Given the description of an element on the screen output the (x, y) to click on. 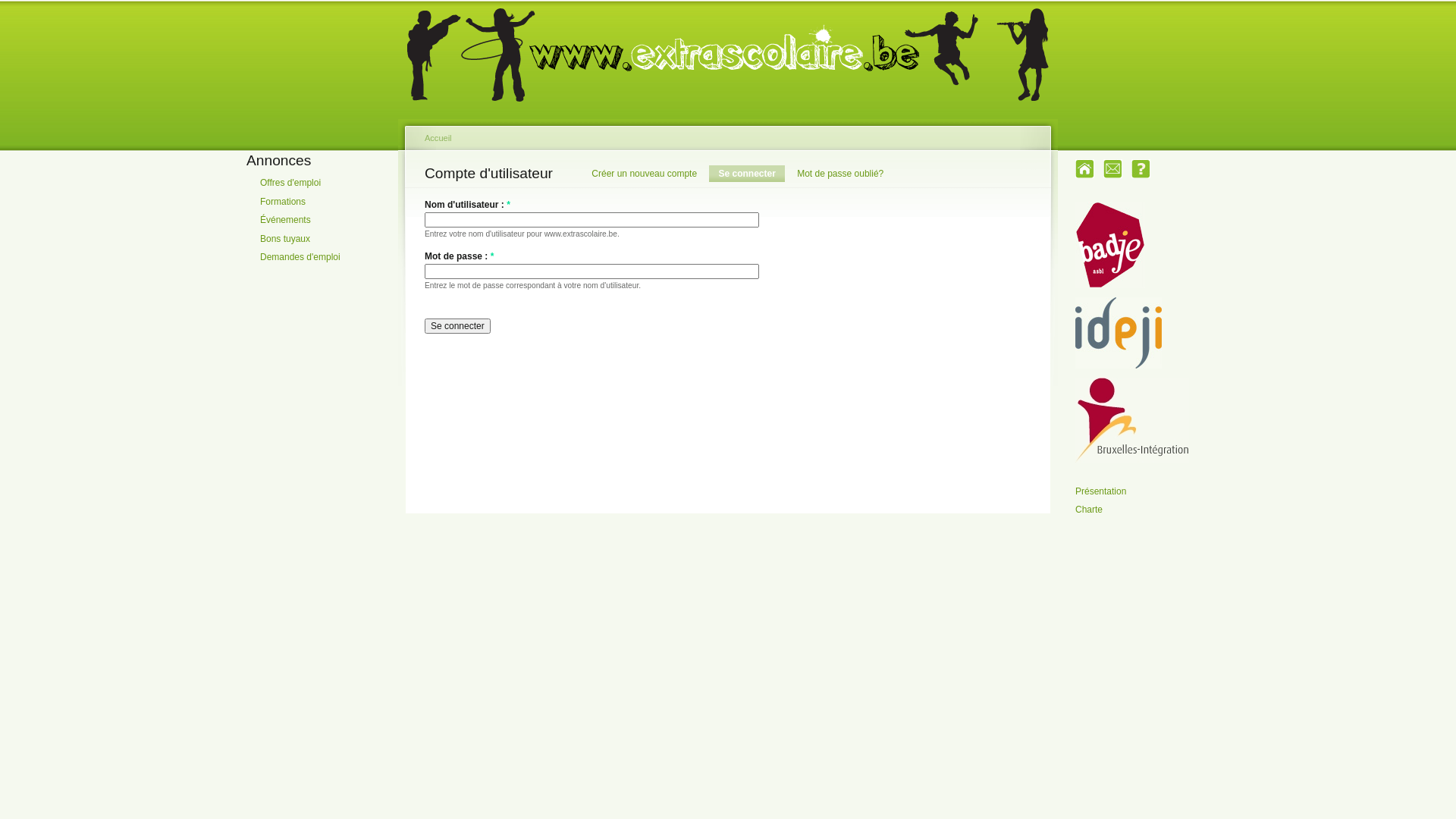
Formations Element type: text (327, 201)
Badje Element type: hover (1110, 244)
Mode d'emploi Element type: hover (1140, 168)
Se connecter Element type: text (746, 173)
Offres d'emploi Element type: text (327, 182)
Bons tuyaux Element type: text (327, 238)
Accueil Element type: hover (1084, 168)
Contact Element type: hover (1112, 168)
Accueil Element type: text (437, 137)
Se connecter Element type: text (457, 325)
Demandes d'emploi Element type: text (327, 256)
Charte Element type: text (1142, 509)
